Given the description of an element on the screen output the (x, y) to click on. 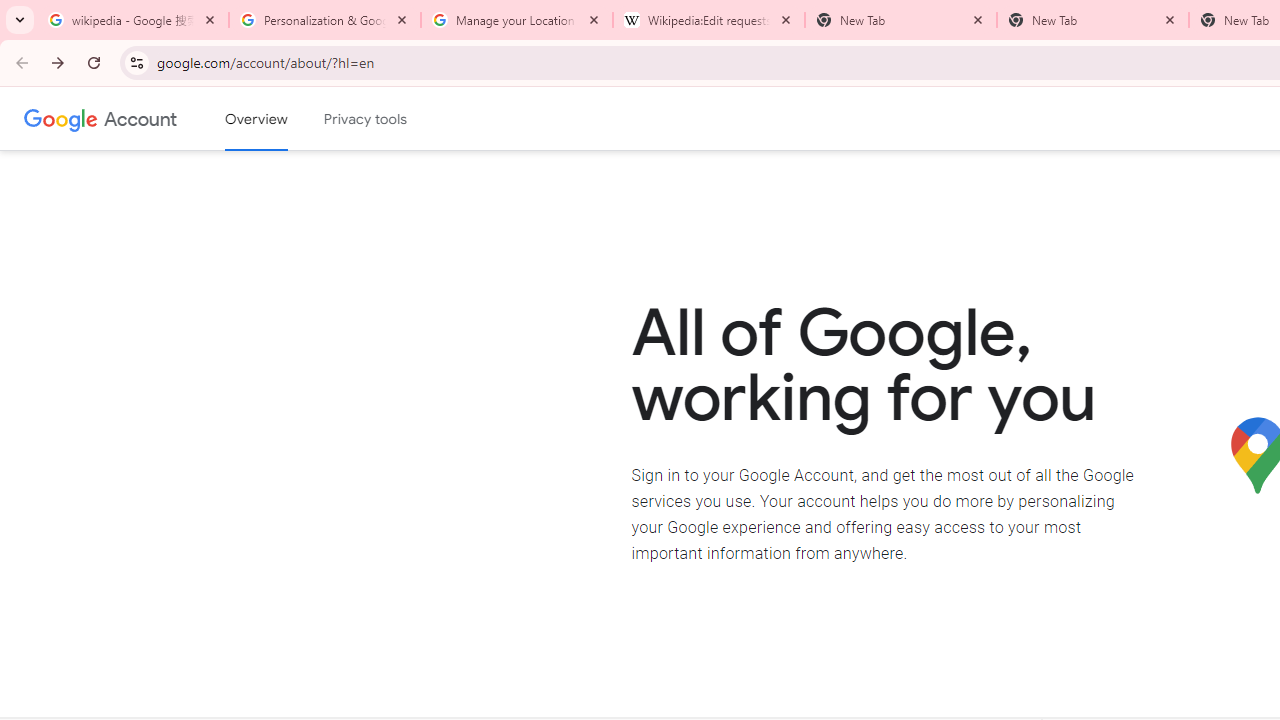
Google Account overview (256, 119)
Google Account (140, 118)
Manage your Location History - Google Search Help (517, 20)
Wikipedia:Edit requests - Wikipedia (709, 20)
Personalization & Google Search results - Google Search Help (325, 20)
Google logo (61, 118)
Skip to Content (285, 115)
Privacy tools (365, 119)
